Given the description of an element on the screen output the (x, y) to click on. 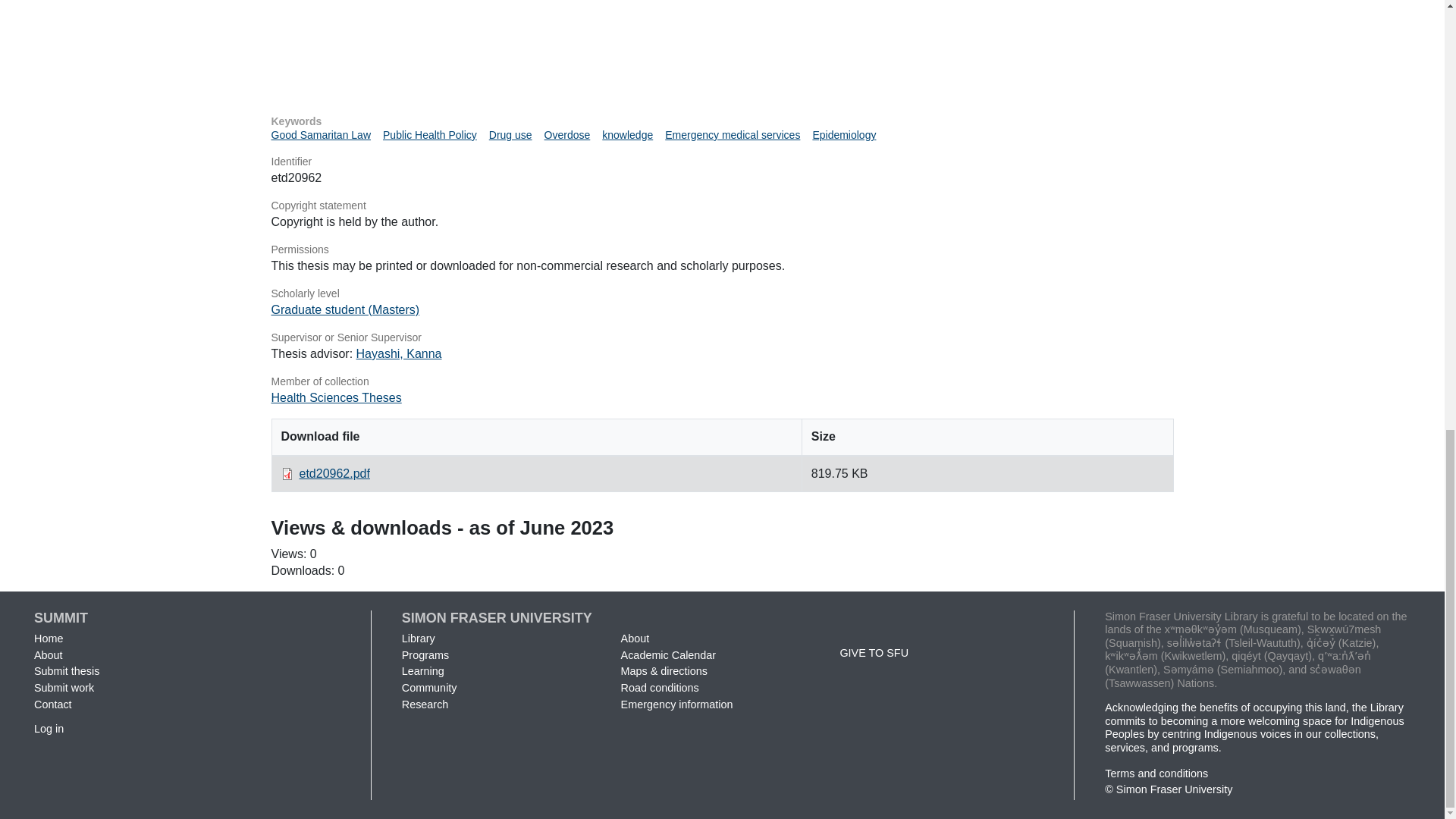
Health Sciences Theses (335, 397)
Supervisor or Senior Supervisor (721, 337)
Home (47, 638)
Log in (48, 728)
Scholarly level (721, 294)
About (47, 654)
Good Samaritan Law (320, 134)
etd20962.pdf (721, 49)
Submit thesis (66, 671)
Identifier (721, 161)
Overdose (567, 134)
Permissions (721, 249)
Public Health Policy (429, 134)
Contact (52, 704)
knowledge (627, 134)
